Given the description of an element on the screen output the (x, y) to click on. 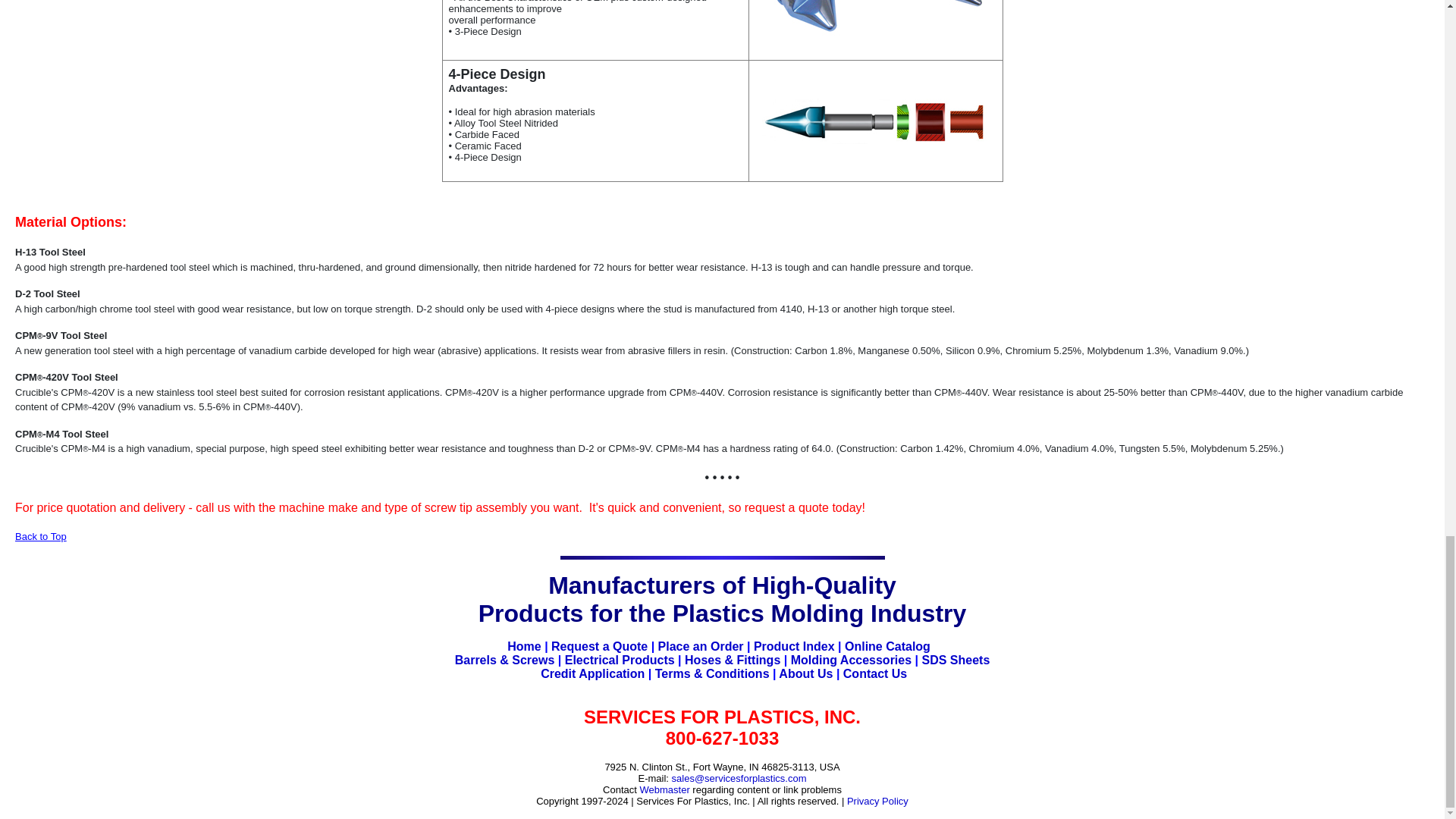
Product Index (794, 645)
SDS Sheets (955, 659)
Electrical Products (619, 659)
Online Catalog (887, 645)
Home (523, 645)
Credit Application (592, 673)
Contact Us (875, 673)
Back to Top (40, 534)
Place an Order (701, 645)
Request a Quote (599, 645)
Privacy Policy (877, 800)
About Us (805, 673)
Molding Accessories (850, 659)
Webmaster (665, 789)
